Given the description of an element on the screen output the (x, y) to click on. 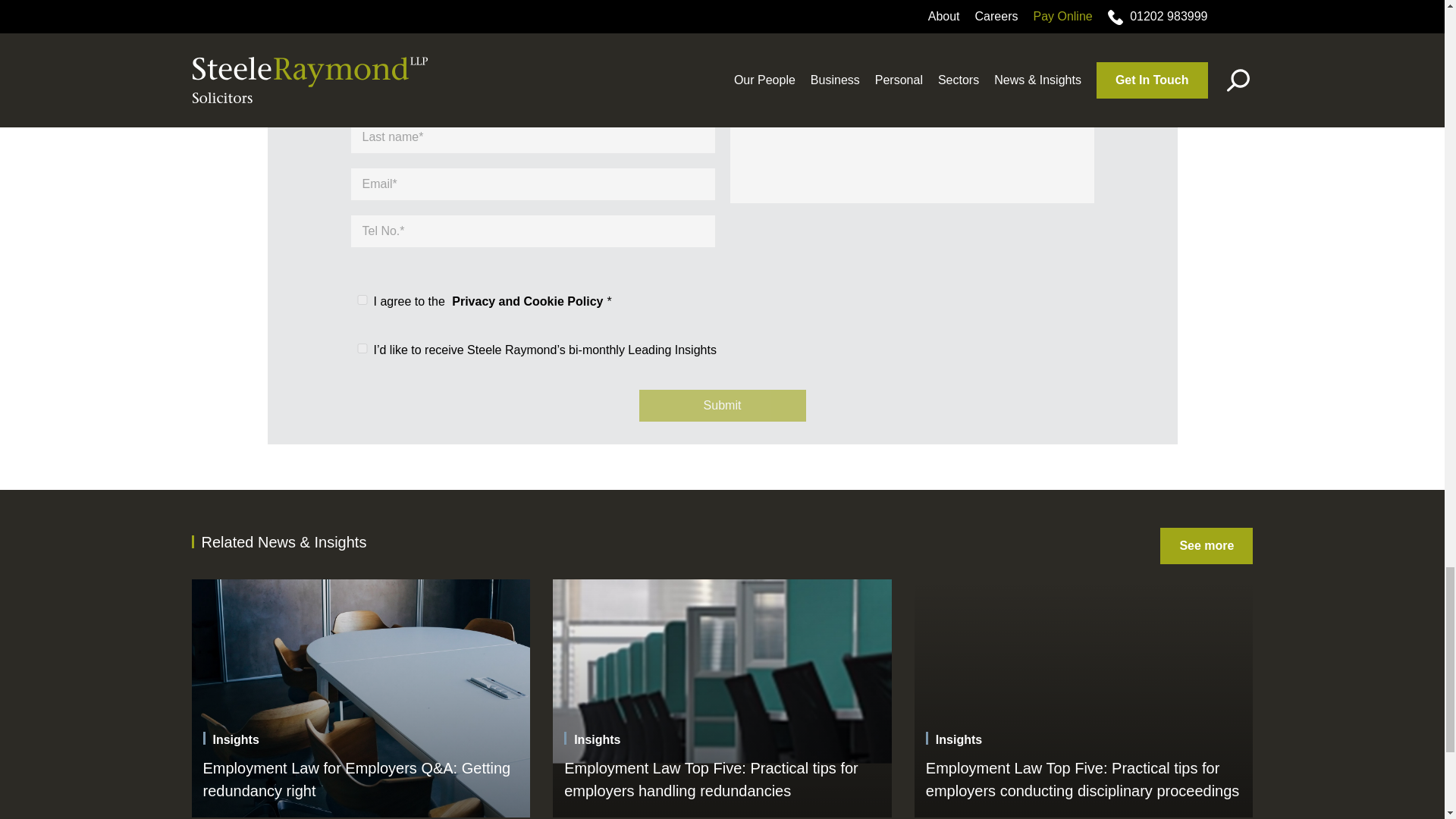
1 (361, 299)
1 (361, 347)
Submit (722, 405)
